Given the description of an element on the screen output the (x, y) to click on. 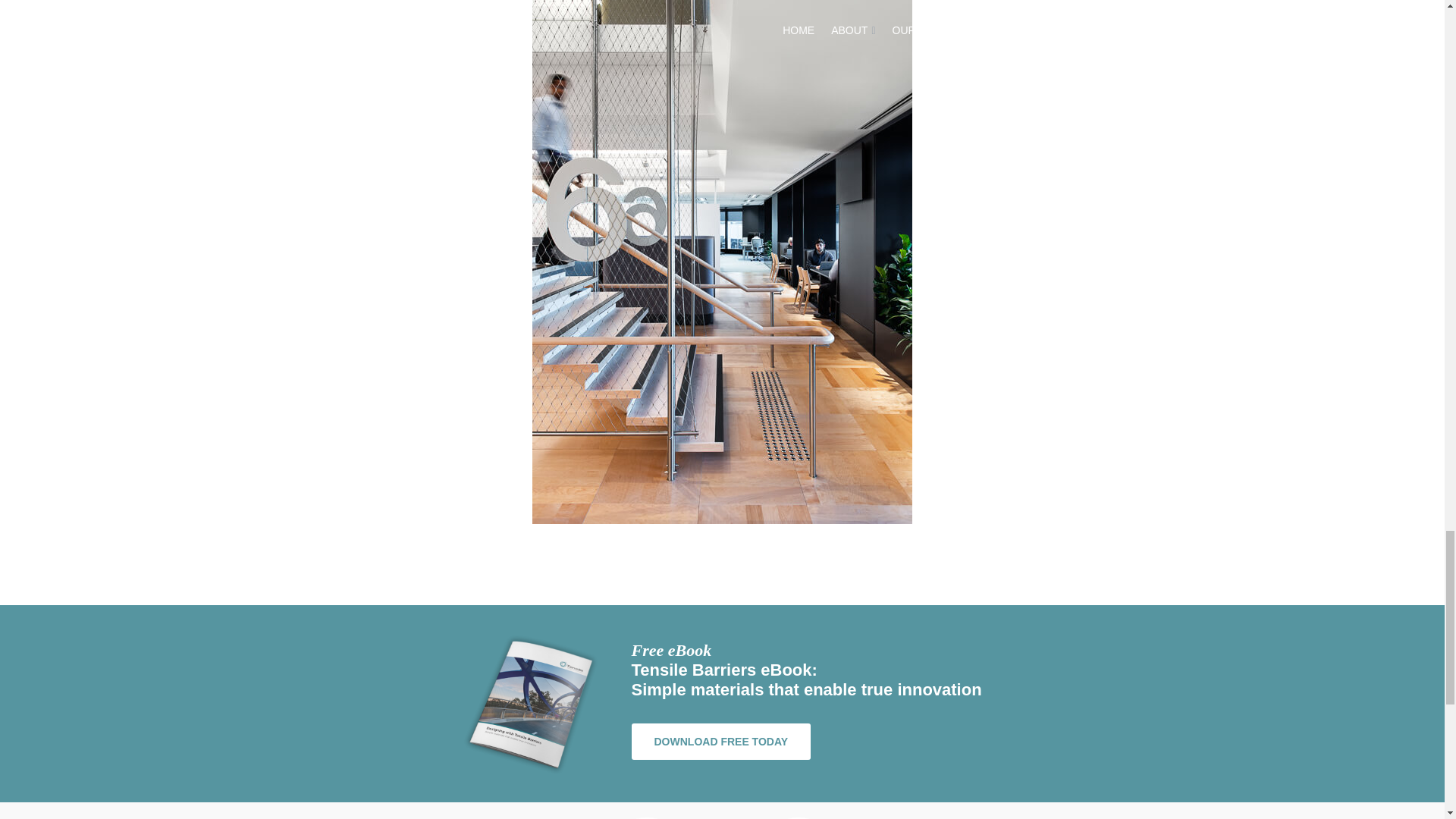
DOWNLOAD FREE TODAY (720, 741)
